Given the description of an element on the screen output the (x, y) to click on. 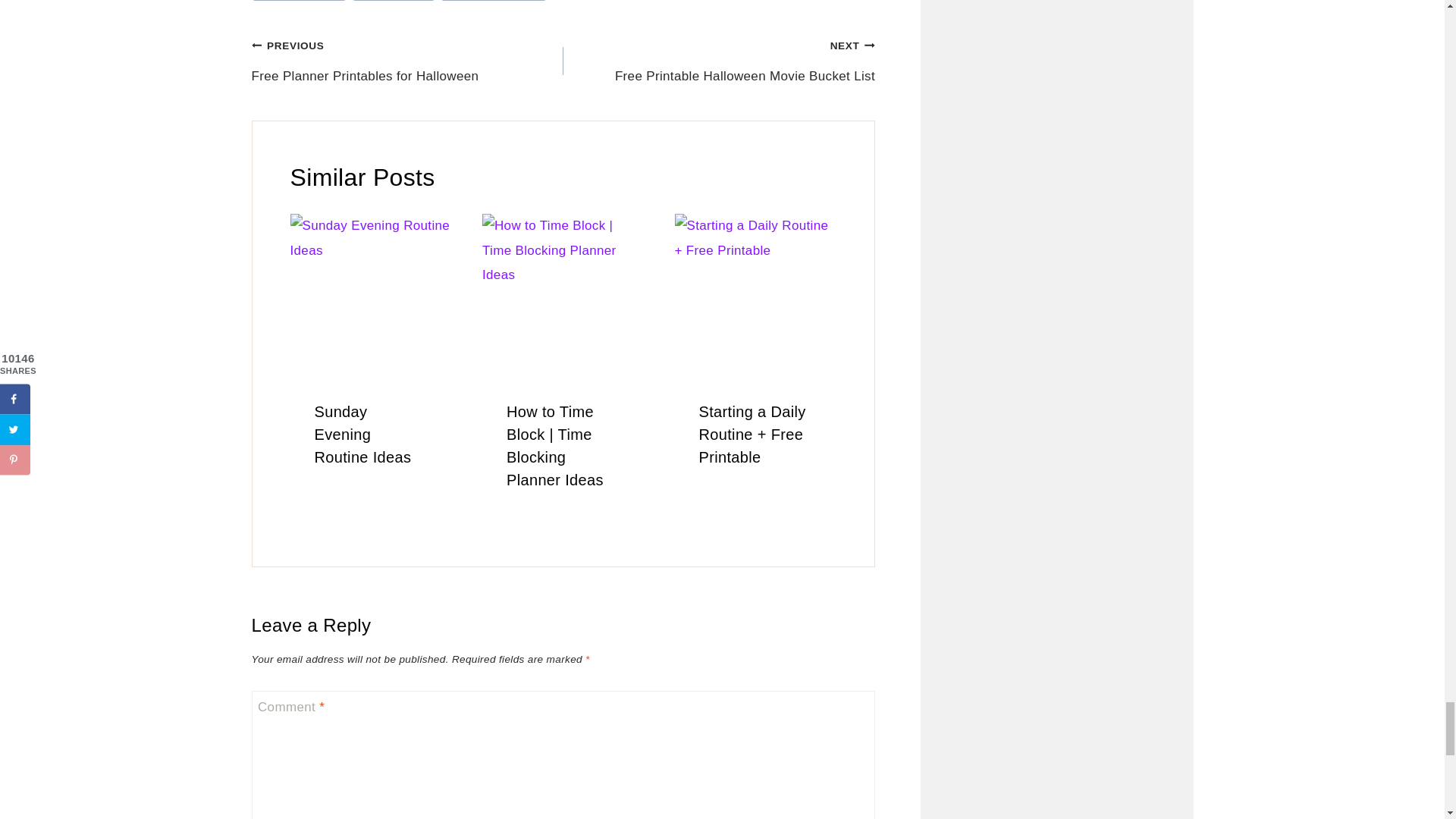
time blocking (393, 0)
productivity tips (299, 0)
time management (494, 0)
